Given the description of an element on the screen output the (x, y) to click on. 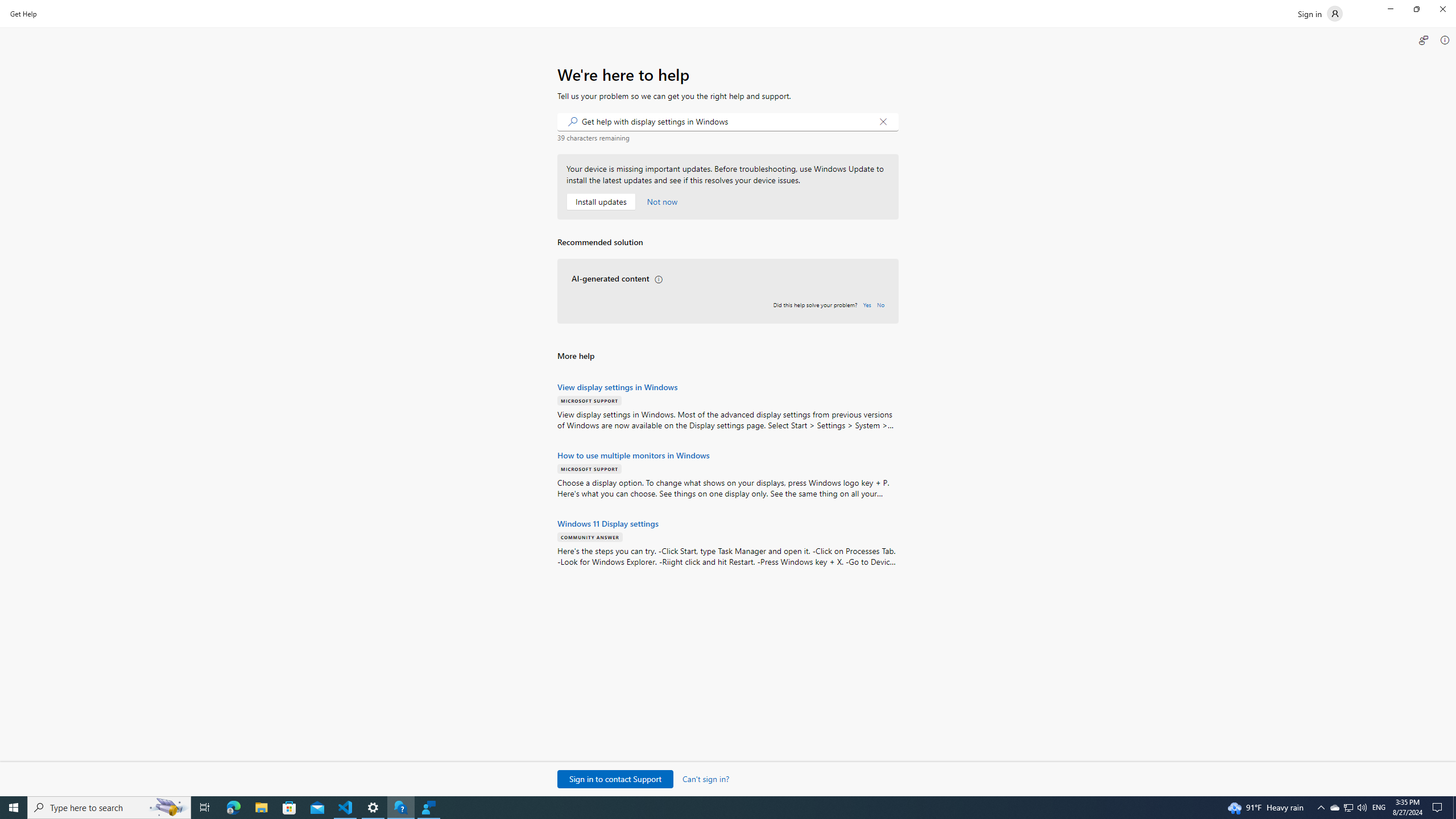
Sign in (1320, 13)
Get Help - 1 running window (400, 807)
